Given the description of an element on the screen output the (x, y) to click on. 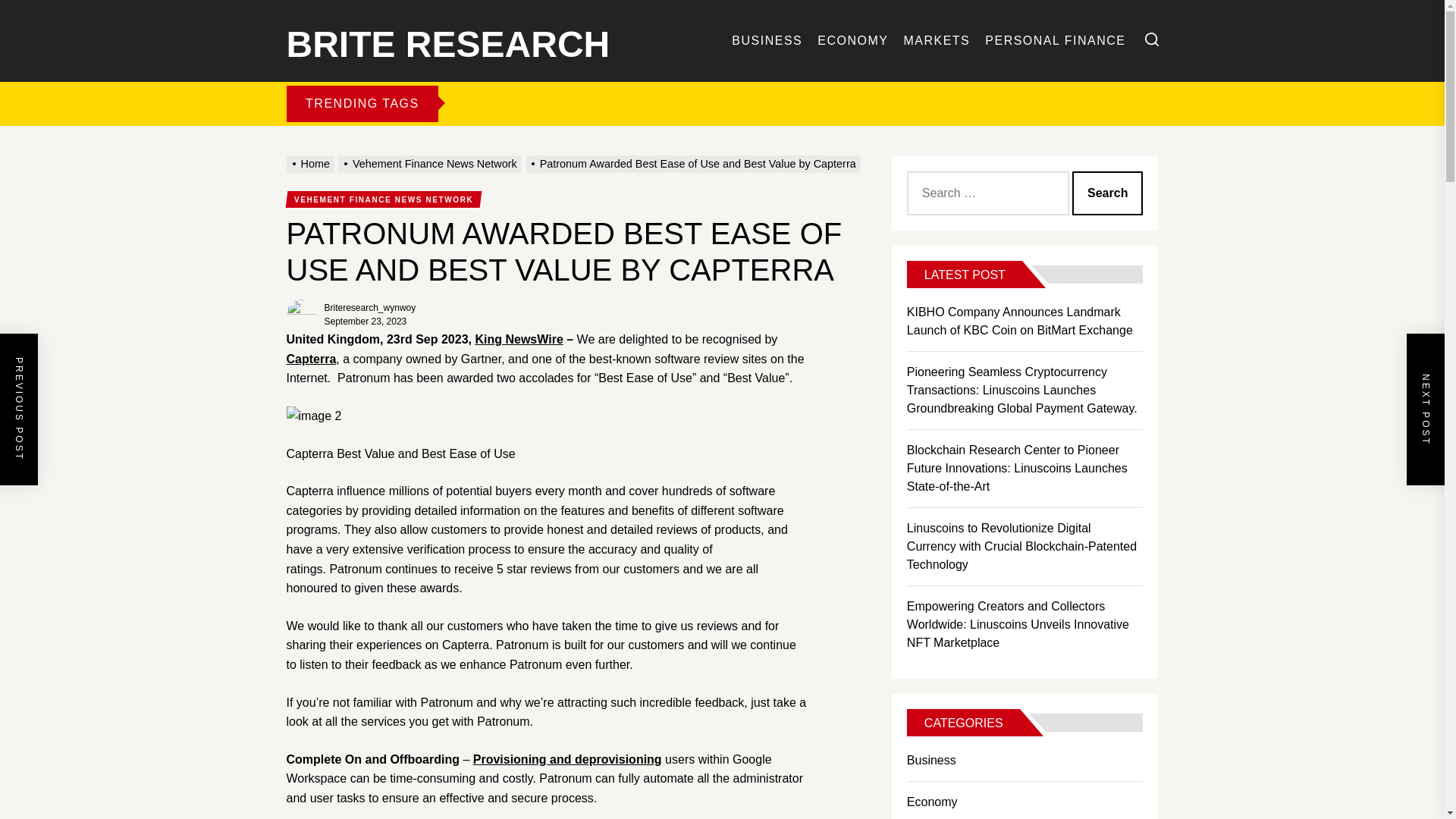
Vehement Finance News Network (431, 163)
BRITE RESEARCH (448, 40)
Capterra (311, 358)
PERSONAL FINANCE (1055, 40)
King NewsWire (518, 338)
Home (311, 163)
Provisioning and deprovisioning (567, 758)
Search (1106, 193)
MARKETS (935, 40)
September 23, 2023 (365, 321)
ECONOMY (852, 40)
Search (1106, 193)
BUSINESS (767, 40)
Patronum Awarded Best Ease of Use and Best Value by Capterra (694, 163)
VEHEMENT FINANCE NEWS NETWORK (382, 199)
